Given the description of an element on the screen output the (x, y) to click on. 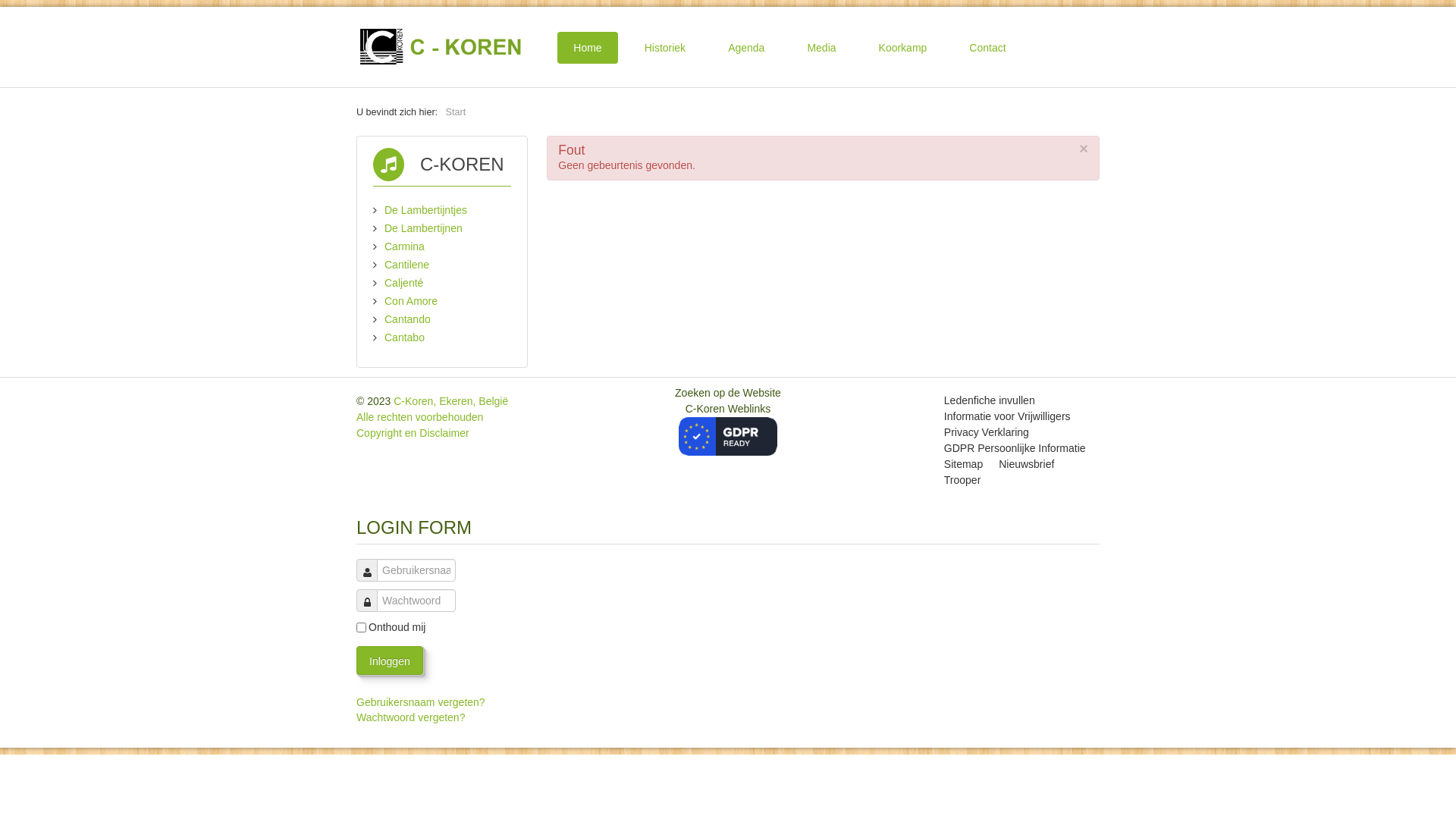
Trooper Element type: text (962, 480)
De Lambertijntjes Element type: text (425, 209)
Sitemap Element type: text (963, 464)
Historiek Element type: text (664, 47)
GDPR Persoonlijke Informatie Element type: text (1014, 448)
Inloggen Element type: text (389, 660)
Cantabo Element type: text (404, 337)
Zoeken op de Website Element type: text (727, 392)
Cantilene Element type: text (406, 264)
C-Koren Weblinks Element type: text (727, 421)
Contact Element type: text (987, 47)
De Lambertijnen Element type: text (423, 228)
Carmina Element type: text (404, 246)
Privacy Verklaring Element type: text (986, 432)
Agenda Element type: text (746, 47)
Nieuwsbrief Element type: text (1026, 464)
Media Element type: text (820, 47)
Ledenfiche invullen Element type: text (989, 400)
Con Amore Element type: text (410, 300)
Koorkamp Element type: text (902, 47)
Home Element type: text (587, 47)
Cantando Element type: text (407, 319)
Gebruikersnaam vergeten? Element type: text (420, 702)
Informatie voor Vrijwilligers Element type: text (1007, 416)
Wachtwoord vergeten? Element type: text (410, 717)
